Given the description of an element on the screen output the (x, y) to click on. 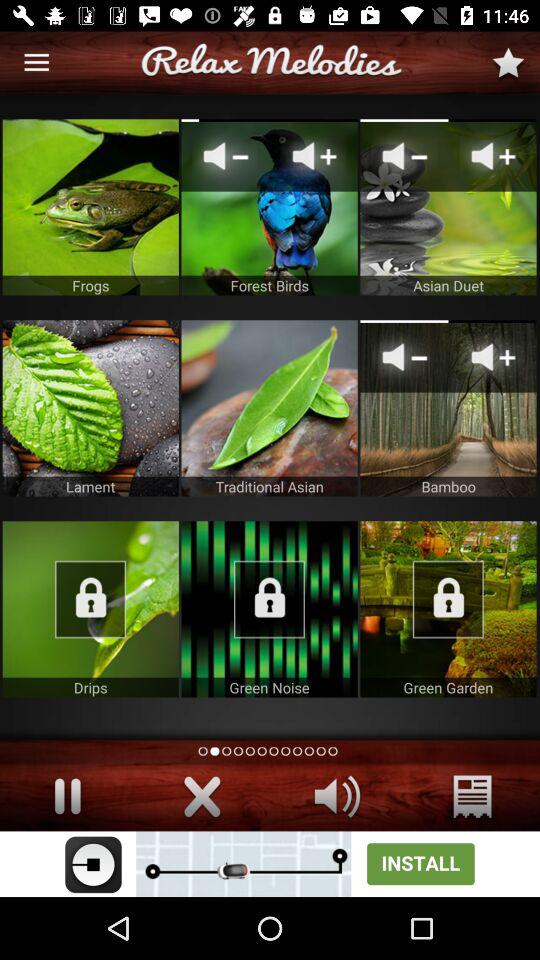
install (270, 864)
